Given the description of an element on the screen output the (x, y) to click on. 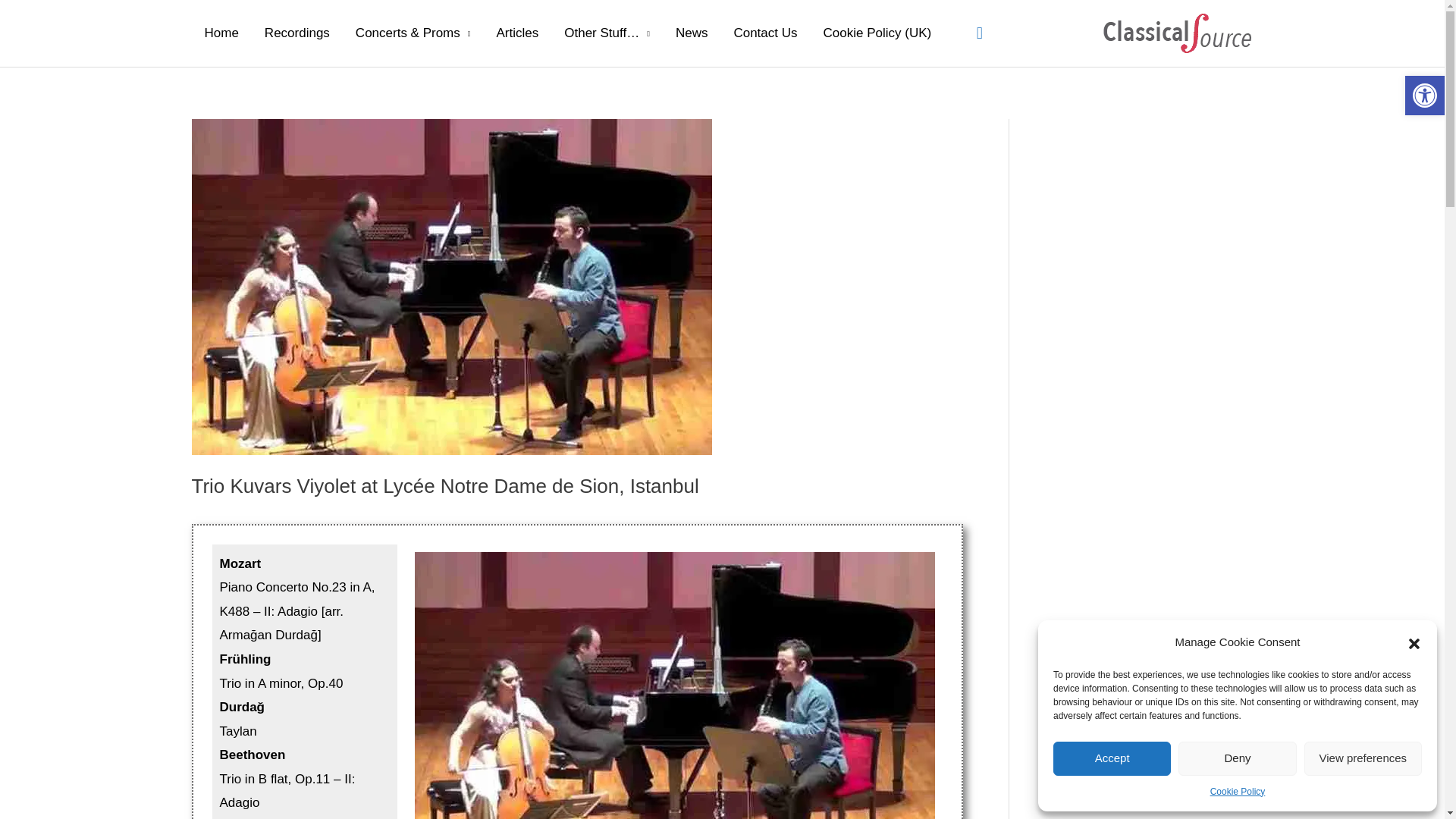
Articles (517, 33)
Cookie Policy (1237, 791)
Deny (1236, 758)
Home (220, 33)
View preferences (1363, 758)
Accept (1111, 758)
Accessibility Tools (1424, 95)
Recordings (296, 33)
